Given the description of an element on the screen output the (x, y) to click on. 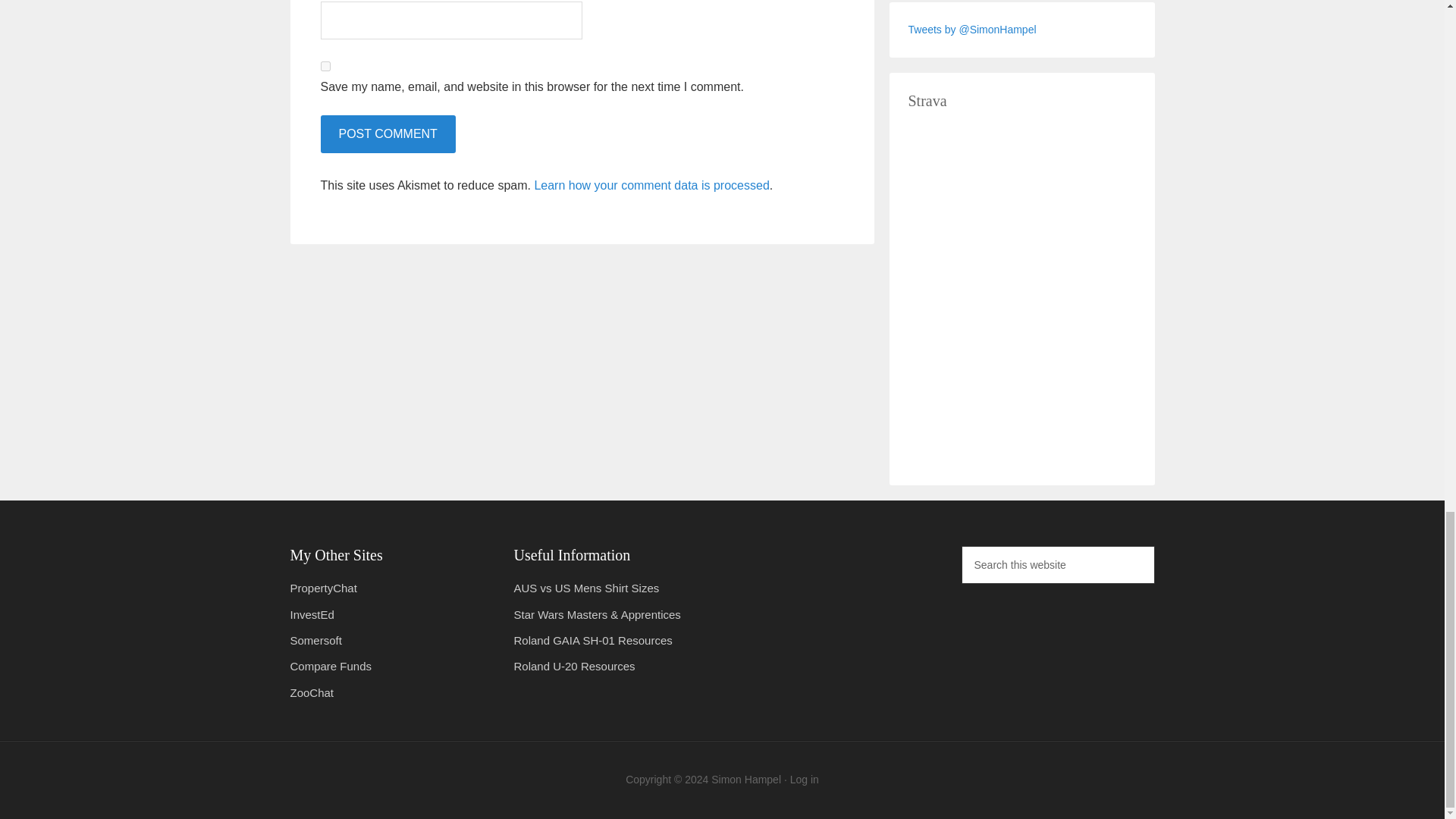
Investor Education (311, 614)
Analysis of Tweets by Australian MPs (322, 587)
Compare Managed Funds and ETFs (330, 666)
Post Comment (387, 134)
Post Comment (387, 134)
yes (325, 66)
Learn how your comment data is processed (651, 185)
